Given the description of an element on the screen output the (x, y) to click on. 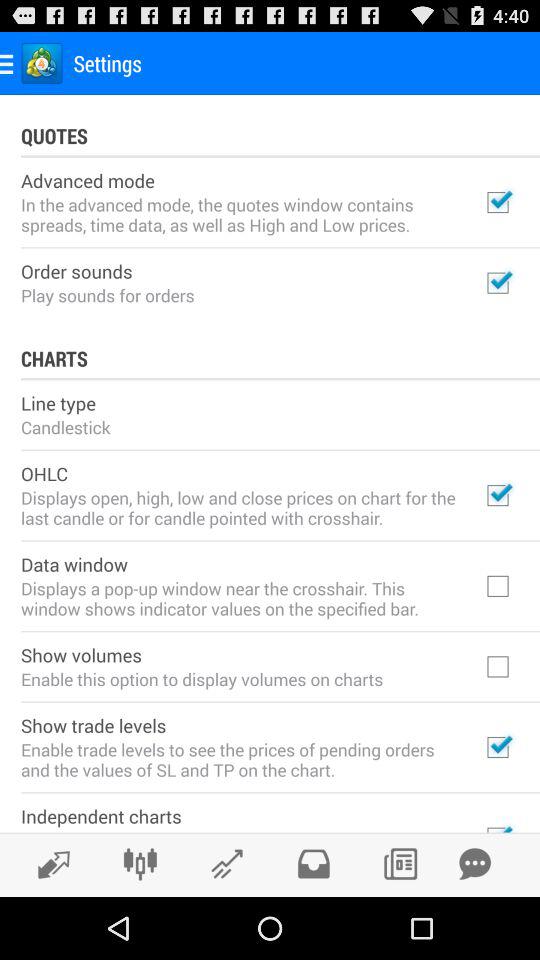
open messages (475, 864)
